Given the description of an element on the screen output the (x, y) to click on. 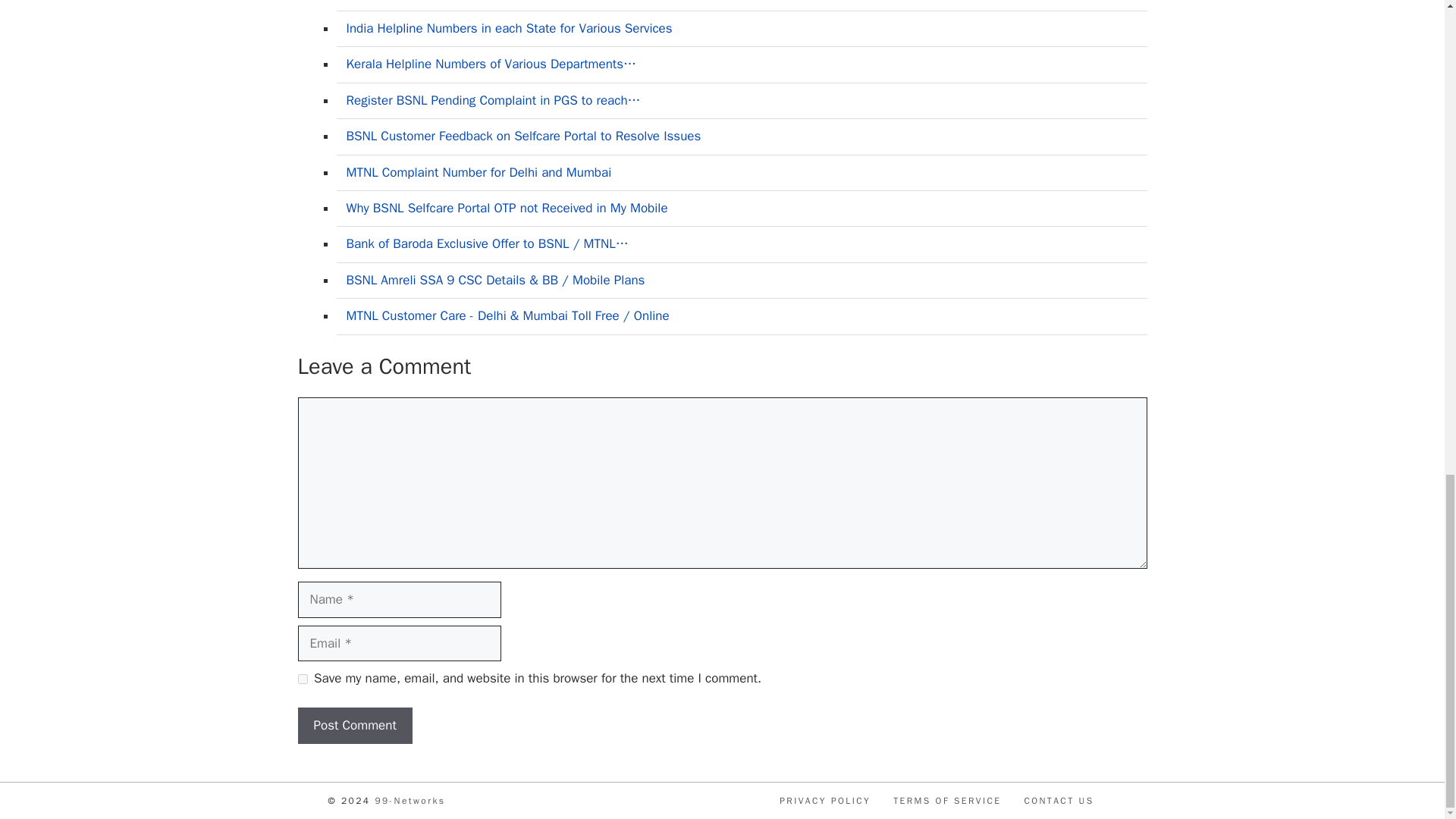
CONTACT US (1058, 800)
India Helpline Numbers in each State for Various Services (508, 28)
TERMS OF SERVICE (947, 800)
yes (302, 678)
MTNL Complaint Number for Delhi and Mumbai (478, 172)
Post Comment (354, 725)
99-Networks (409, 800)
BSNL Customer Feedback on Selfcare Portal to Resolve Issues (523, 135)
Why BSNL Selfcare Portal OTP not Received in My Mobile (506, 207)
Post Comment (354, 725)
PRIVACY POLICY (824, 800)
